Given the description of an element on the screen output the (x, y) to click on. 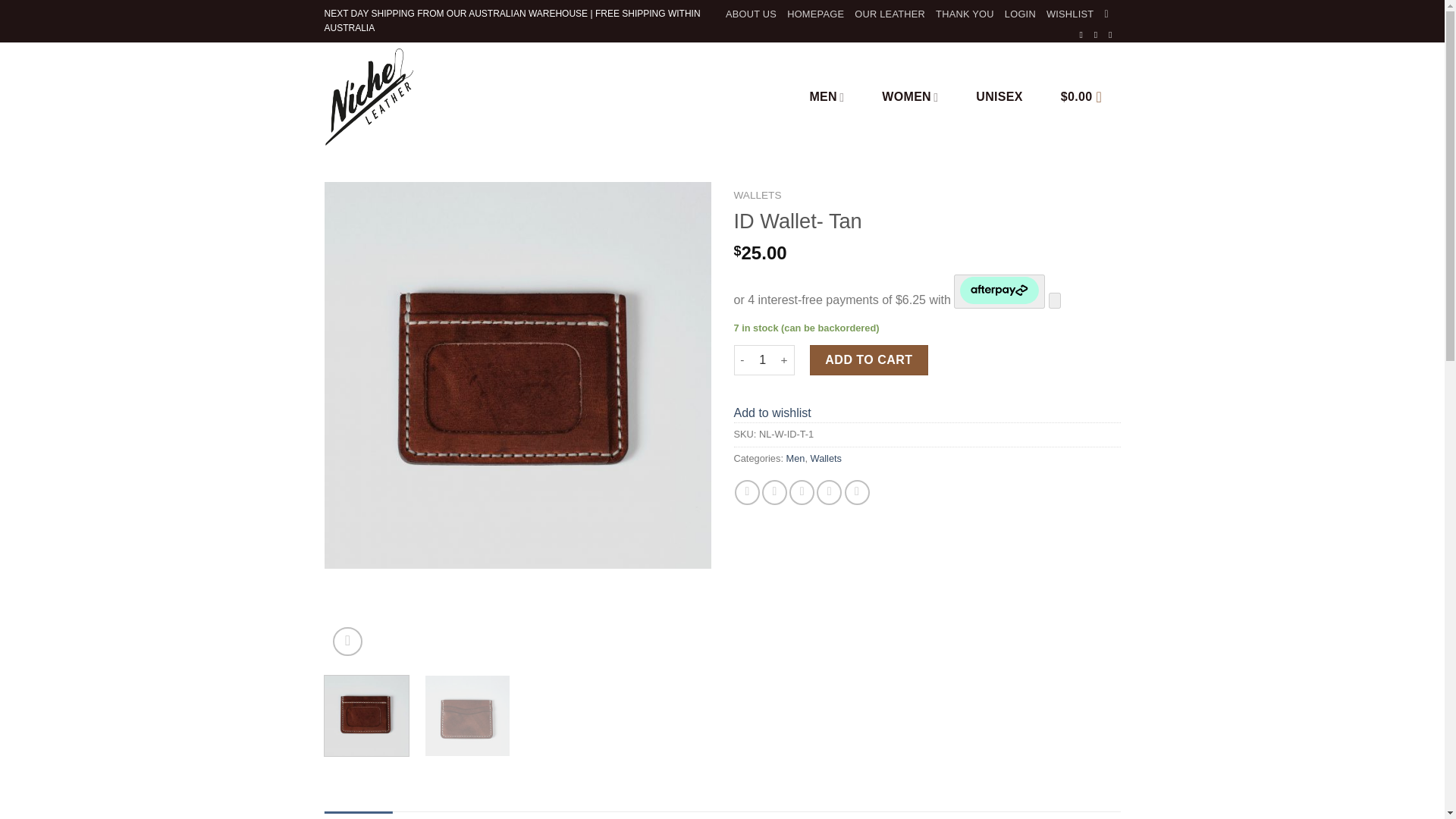
Follow on Facebook (1084, 34)
Men (795, 458)
Cart (1086, 96)
WALLETS (757, 194)
Share on Facebook (747, 492)
- (742, 358)
OUR LEATHER (889, 13)
Send us an email (1113, 34)
ADD TO CART (868, 358)
Add to wishlist (771, 412)
Pin on Pinterest (828, 492)
Wallets (825, 458)
LOGIN (1019, 13)
1 (762, 358)
Niche Leather - Leather Goods For Good (476, 96)
